Given the description of an element on the screen output the (x, y) to click on. 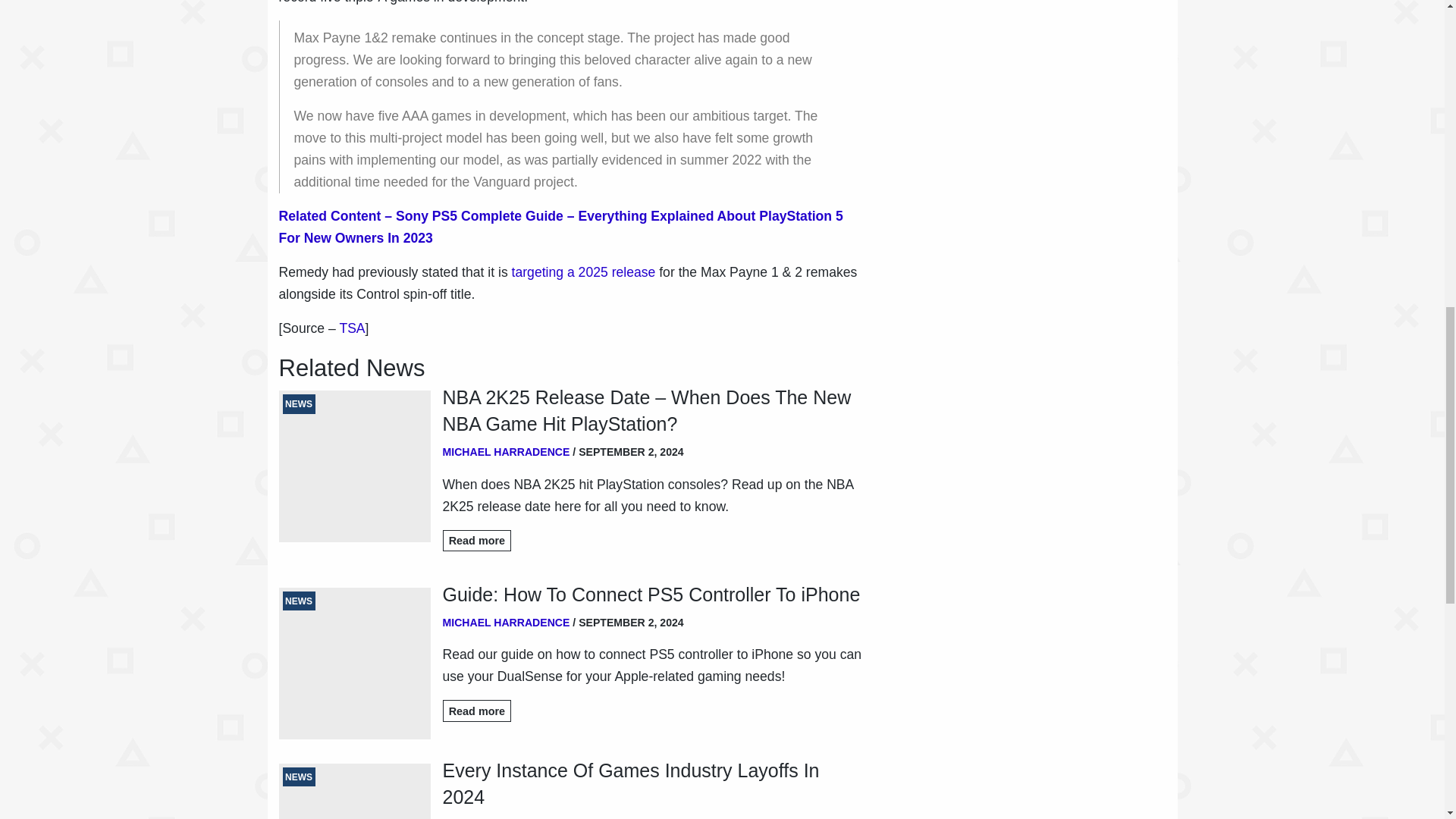
NEWS (354, 663)
Read more (477, 540)
targeting a 2025 release (582, 272)
Read more (477, 710)
NEWS (354, 466)
Every Instance Of Games Industry Layoffs In 2024 (652, 783)
MICHAEL HARRADENCE (506, 622)
MICHAEL HARRADENCE (506, 451)
Guide: How To Connect PS5 Controller To iPhone (652, 594)
NEWS (354, 791)
